Given the description of an element on the screen output the (x, y) to click on. 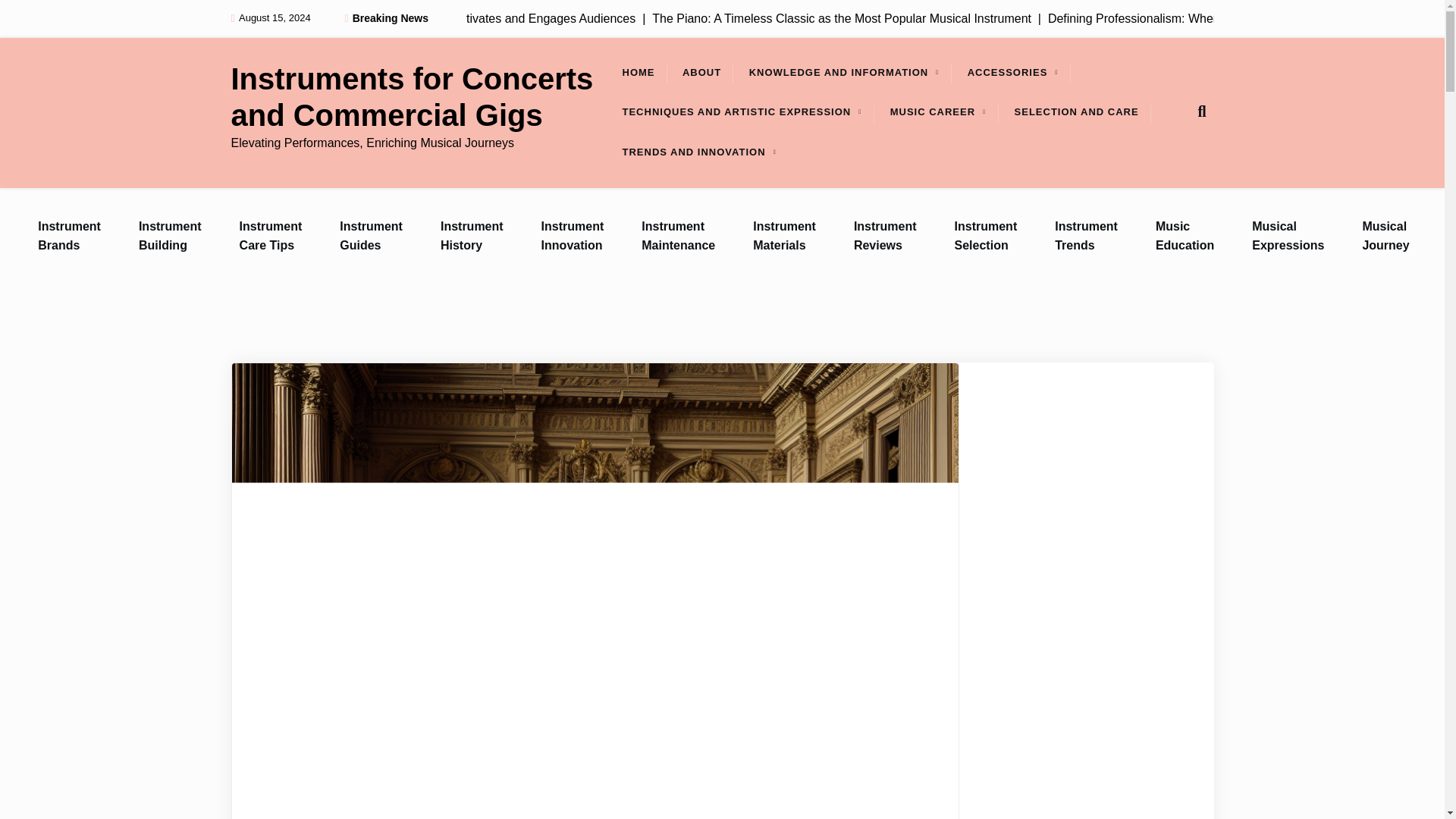
KNOWLEDGE AND INFORMATION (838, 73)
Instruments for Concerts and Commercial Gigs (420, 96)
HOME (638, 73)
ABOUT (701, 73)
